Given the description of an element on the screen output the (x, y) to click on. 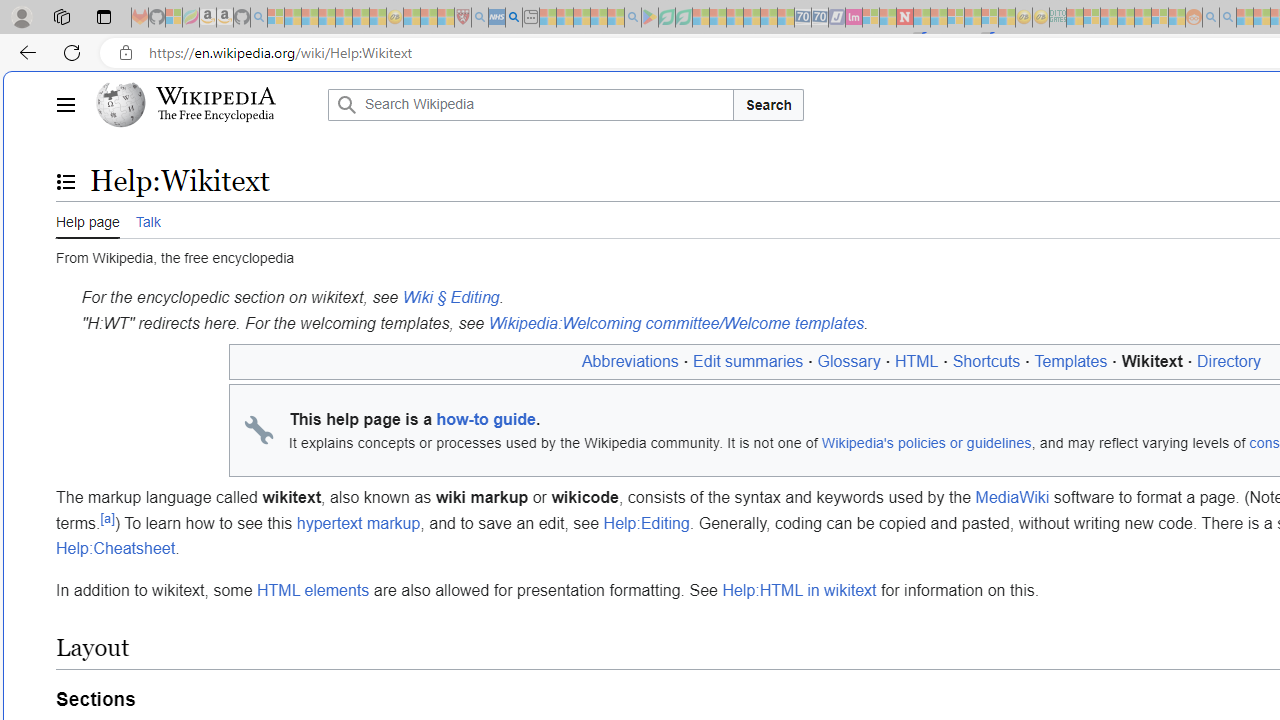
Microsoft Start - Sleeping (1244, 17)
Terms of Use Agreement - Sleeping (666, 17)
Directory (1229, 361)
Help page (88, 219)
14 Common Myths Debunked By Scientific Facts - Sleeping (938, 17)
Talk (147, 219)
Wikipedia:Welcoming committee/Welcome templates (676, 322)
The Free Encyclopedia (216, 116)
list of asthma inhalers uk - Search - Sleeping (479, 17)
DITOGAMES AG Imprint - Sleeping (1057, 17)
NCL Adult Asthma Inhaler Choice Guideline - Sleeping (497, 17)
